Given the description of an element on the screen output the (x, y) to click on. 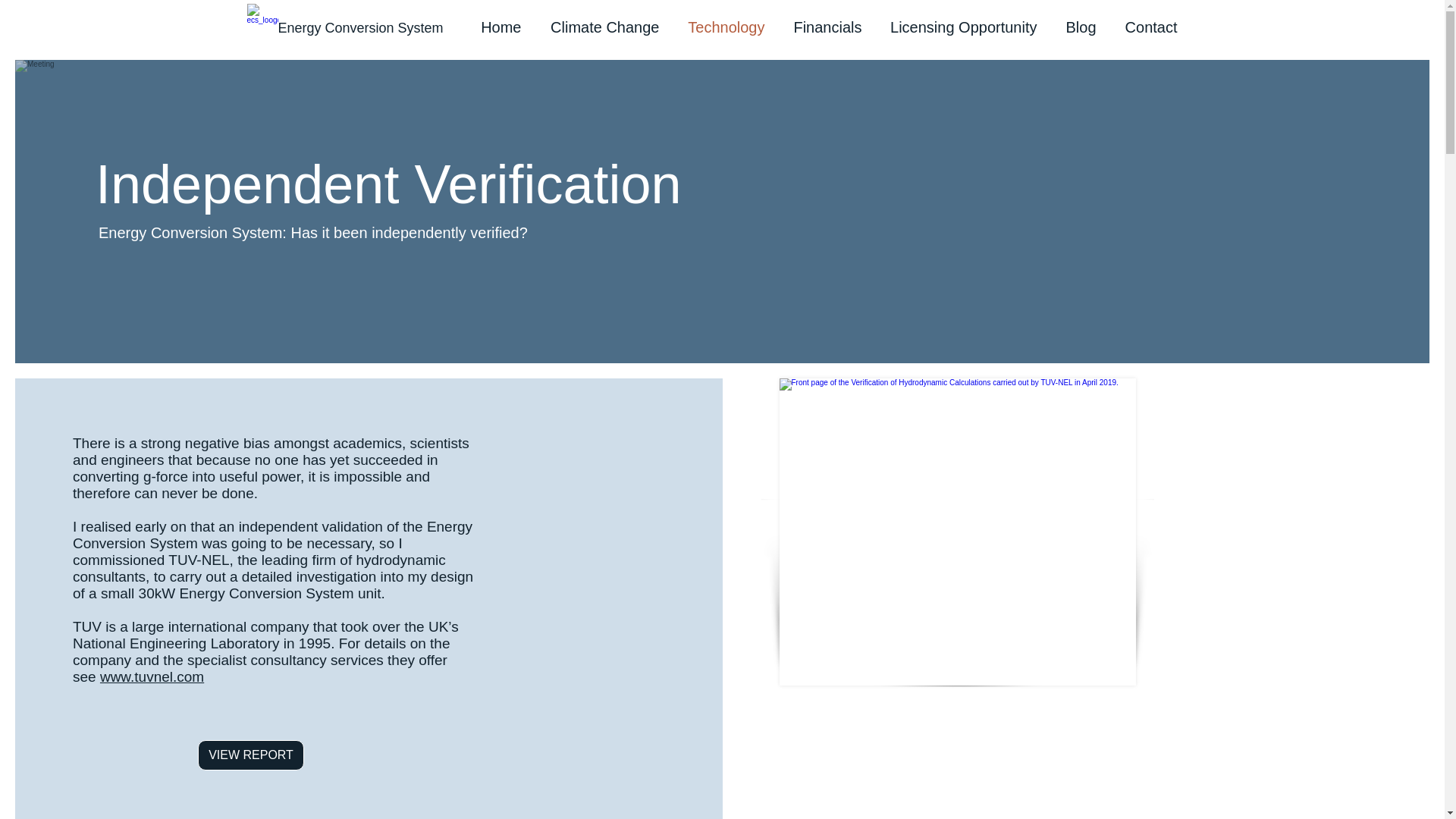
Licensing Opportunity (960, 26)
Technology (722, 26)
Climate Change (600, 26)
Home (497, 26)
Contact (1147, 26)
www.tuvnel.com (151, 676)
Energy Conversion System (360, 28)
Blog (1077, 26)
Financials (824, 26)
